Given the description of an element on the screen output the (x, y) to click on. 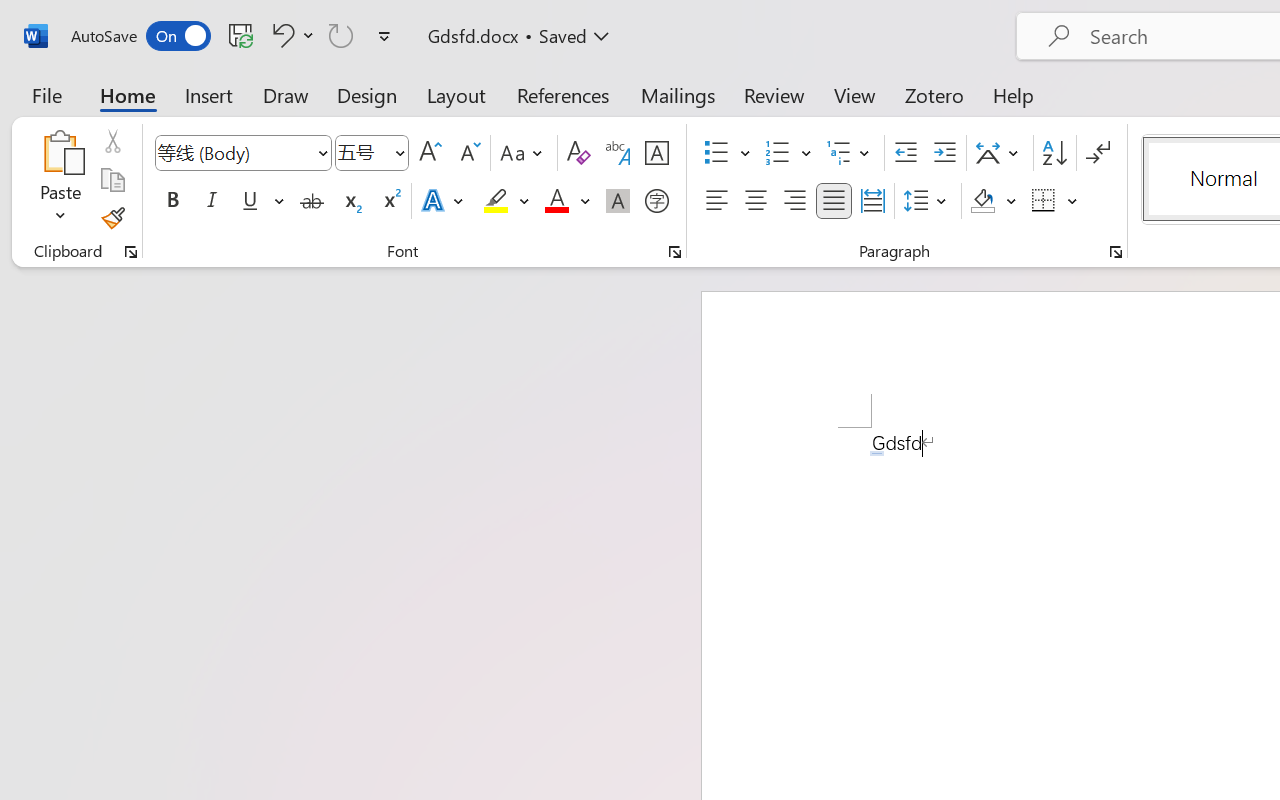
Shading (993, 201)
Undo AutoCorrect (290, 35)
Increase Indent (944, 153)
Phonetic Guide... (618, 153)
Font Color (567, 201)
